Given the description of an element on the screen output the (x, y) to click on. 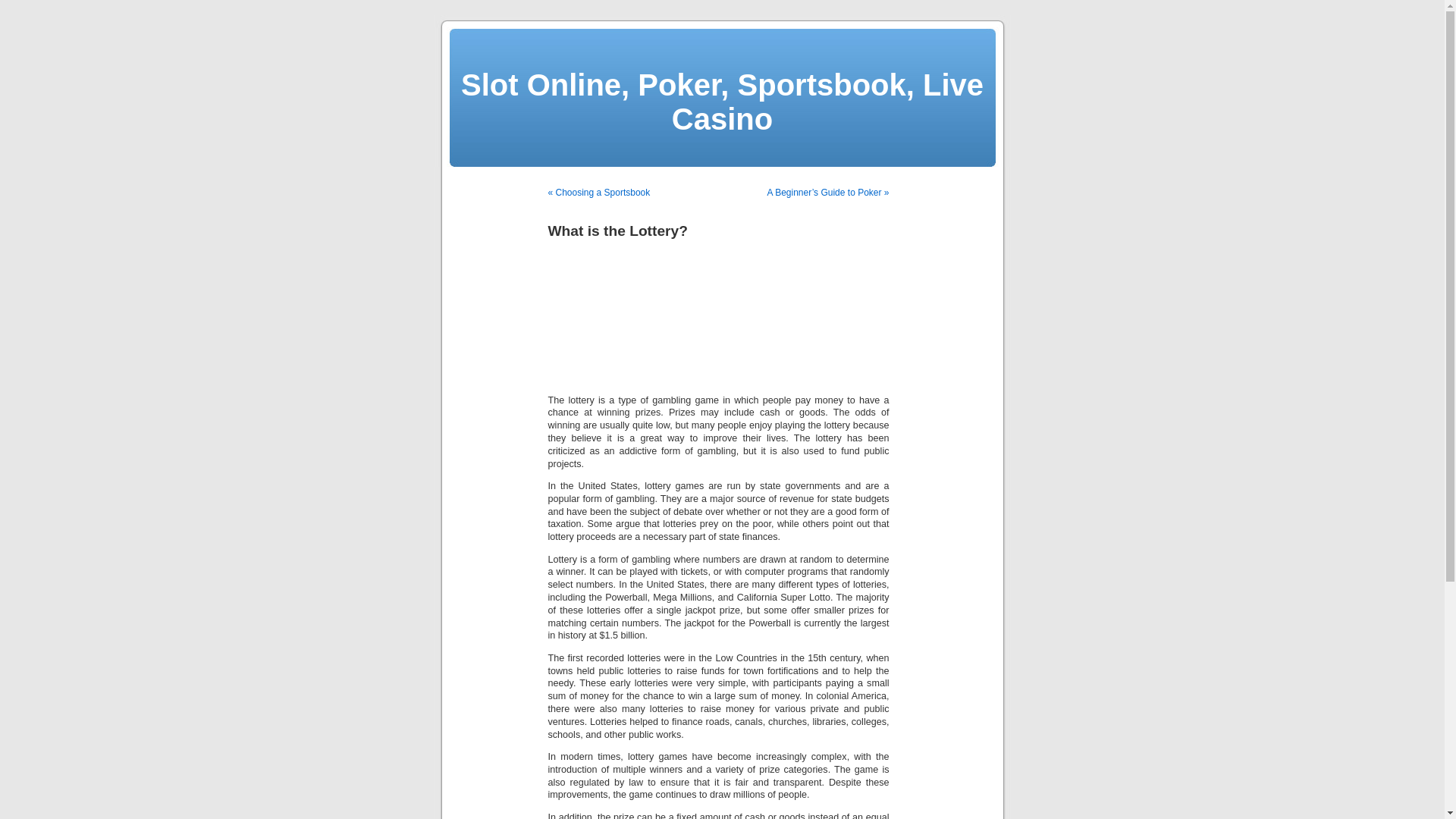
Slot Online, Poker, Sportsbook, Live Casino (722, 101)
